Given the description of an element on the screen output the (x, y) to click on. 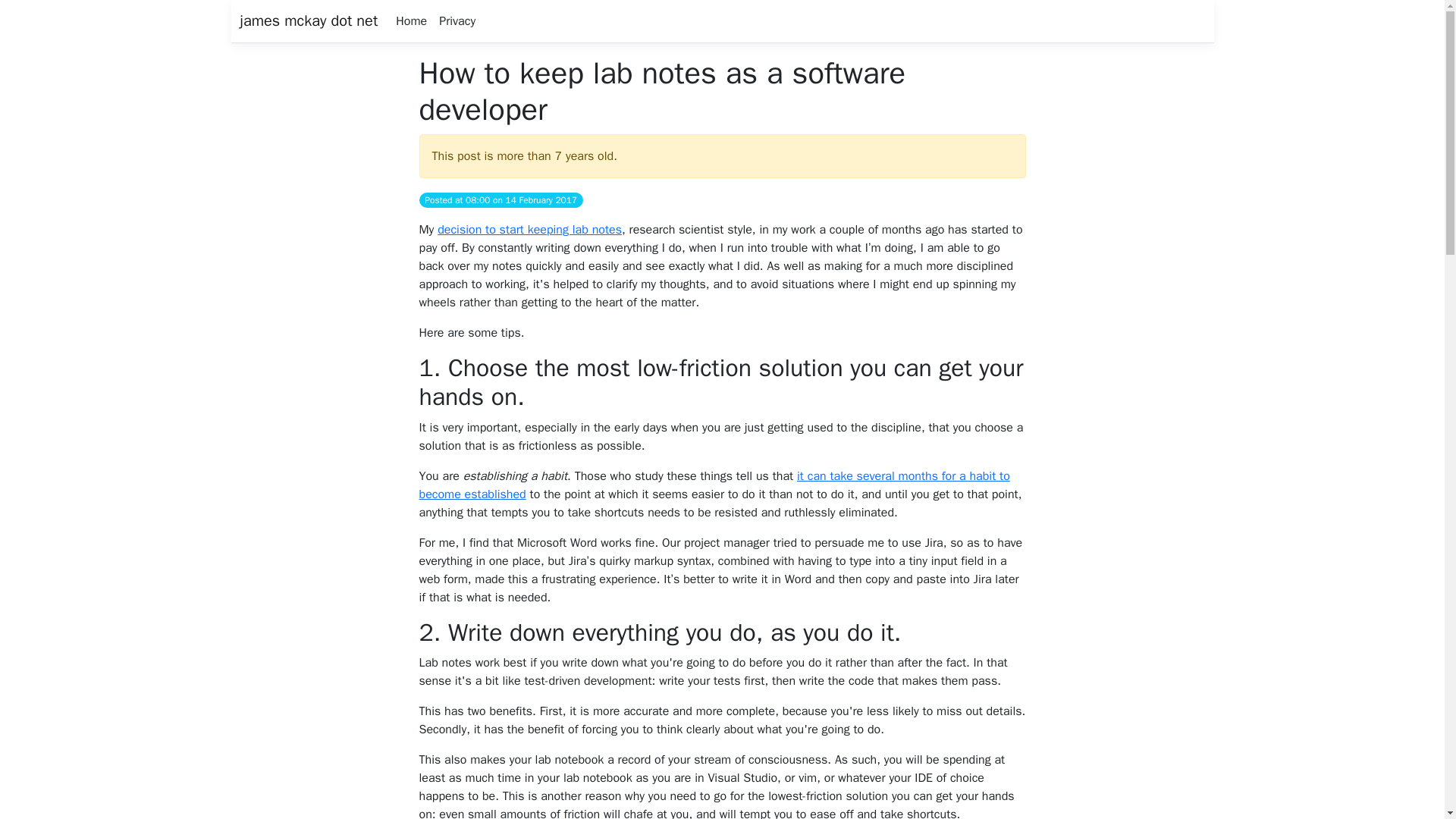
Home (411, 20)
decision to start keeping lab notes (529, 229)
Privacy (456, 20)
james mckay dot net (308, 20)
it can take several months for a habit to become established (714, 485)
